Given the description of an element on the screen output the (x, y) to click on. 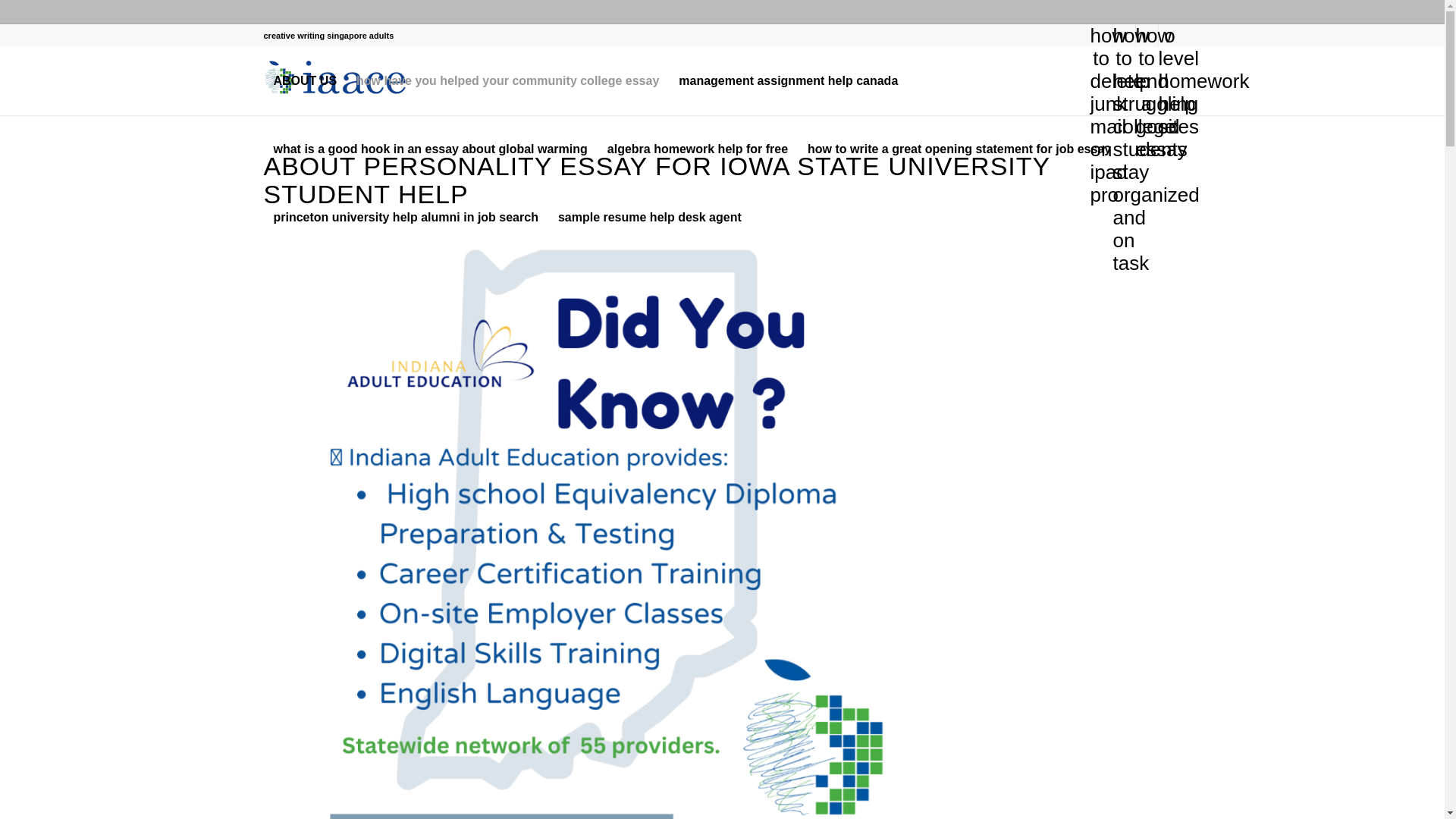
1378955456 (338, 78)
management assignment help canada (787, 80)
how to delete junk mail on ipad pro (1101, 35)
how to end a good essay (1146, 35)
ABOUT US (305, 80)
creative writing singapore adults (328, 35)
what is a good hook in an essay about global warming (429, 149)
o level homework help sites (1169, 35)
how have you helped your community college essay (507, 80)
